Given the description of an element on the screen output the (x, y) to click on. 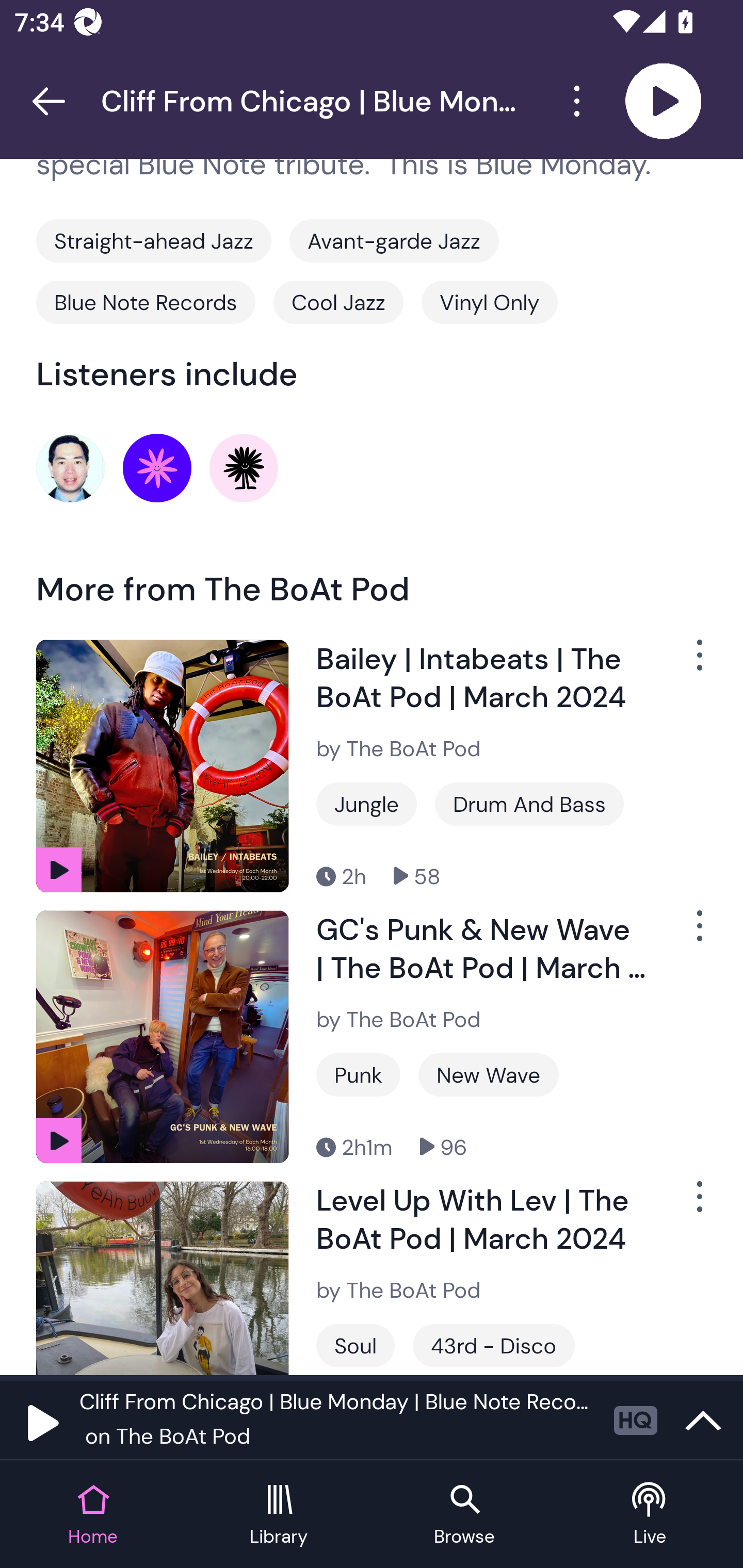
Straight-ahead Jazz (153, 240)
Avant-garde Jazz (394, 240)
Blue Note Records (145, 302)
Cool Jazz (338, 302)
Vinyl Only (489, 302)
Show Options Menu Button (688, 662)
Jungle (366, 804)
Drum And Bass (529, 804)
Show Options Menu Button (688, 934)
Punk (358, 1074)
New Wave (488, 1074)
Show Options Menu Button (688, 1203)
Soul (355, 1345)
43rd - Disco (494, 1345)
Home tab Home (92, 1515)
Library tab Library (278, 1515)
Browse tab Browse (464, 1515)
Live tab Live (650, 1515)
